Given the description of an element on the screen output the (x, y) to click on. 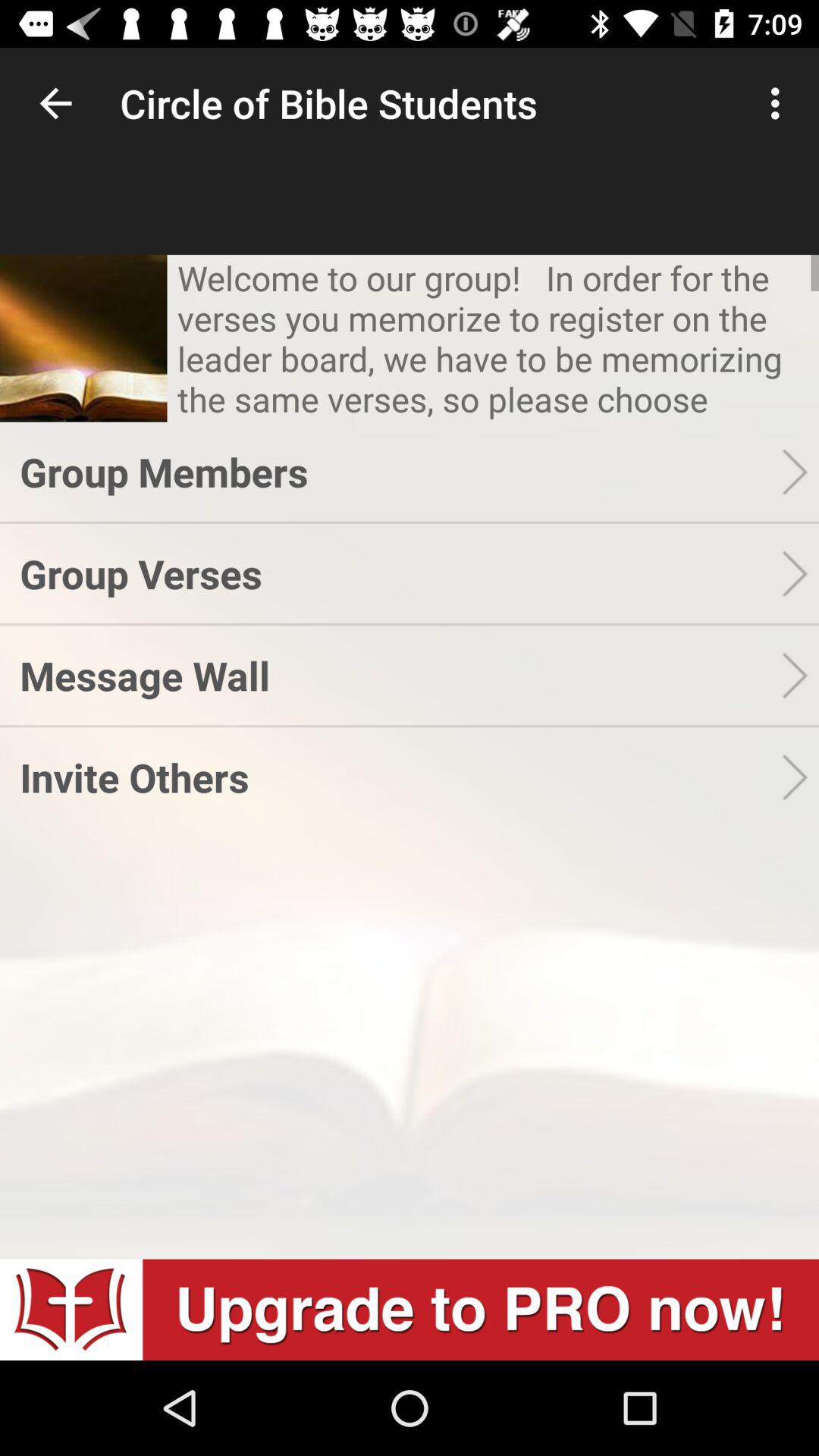
tap the icon above the invite others icon (399, 675)
